Given the description of an element on the screen output the (x, y) to click on. 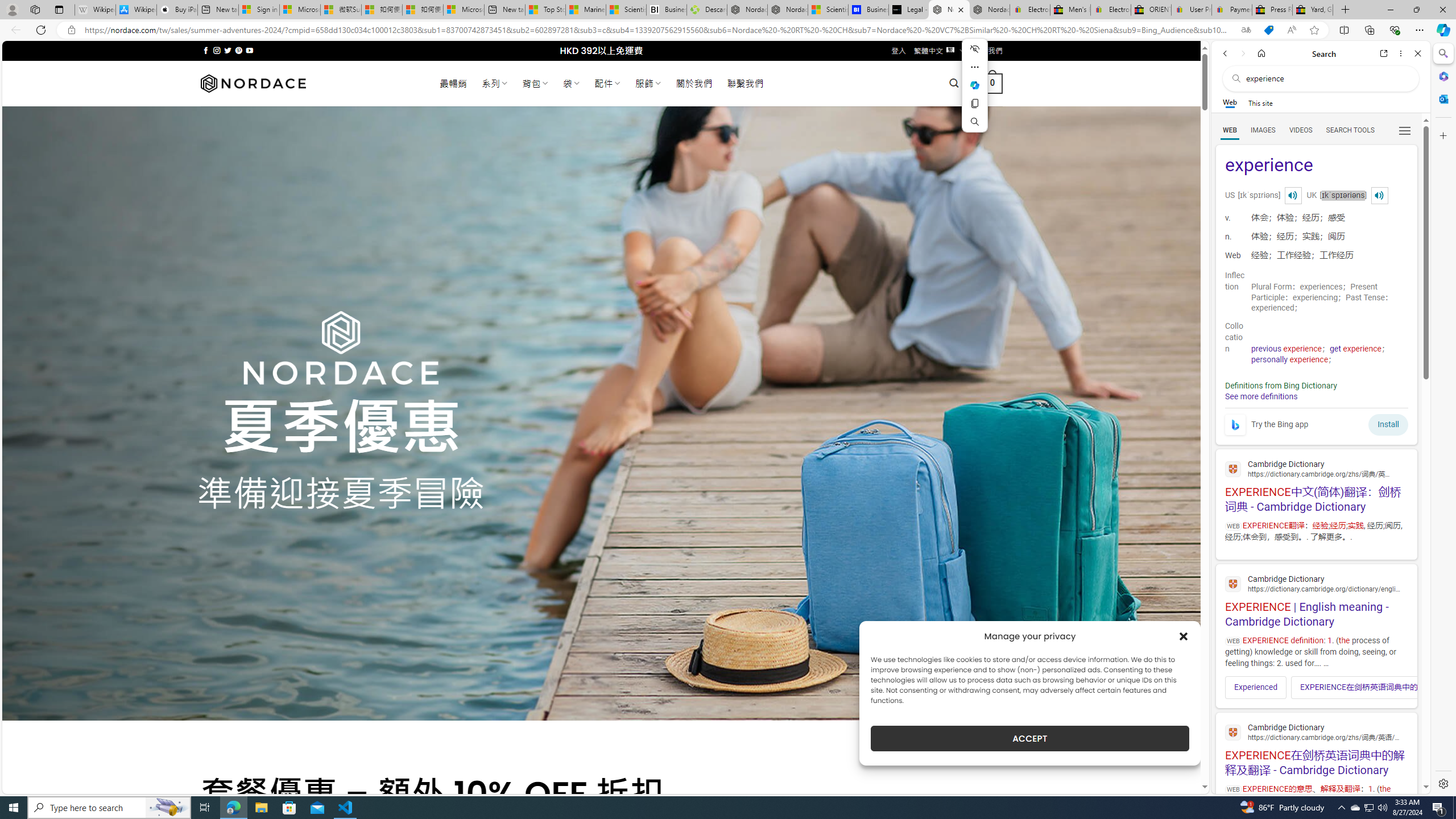
personally experience (1288, 359)
ACCEPT (1029, 738)
This site has coupons! Shopping in Microsoft Edge (1268, 29)
Class: dict_pnIcon rms_img (1379, 194)
Follow on Facebook (205, 50)
